Given the description of an element on the screen output the (x, y) to click on. 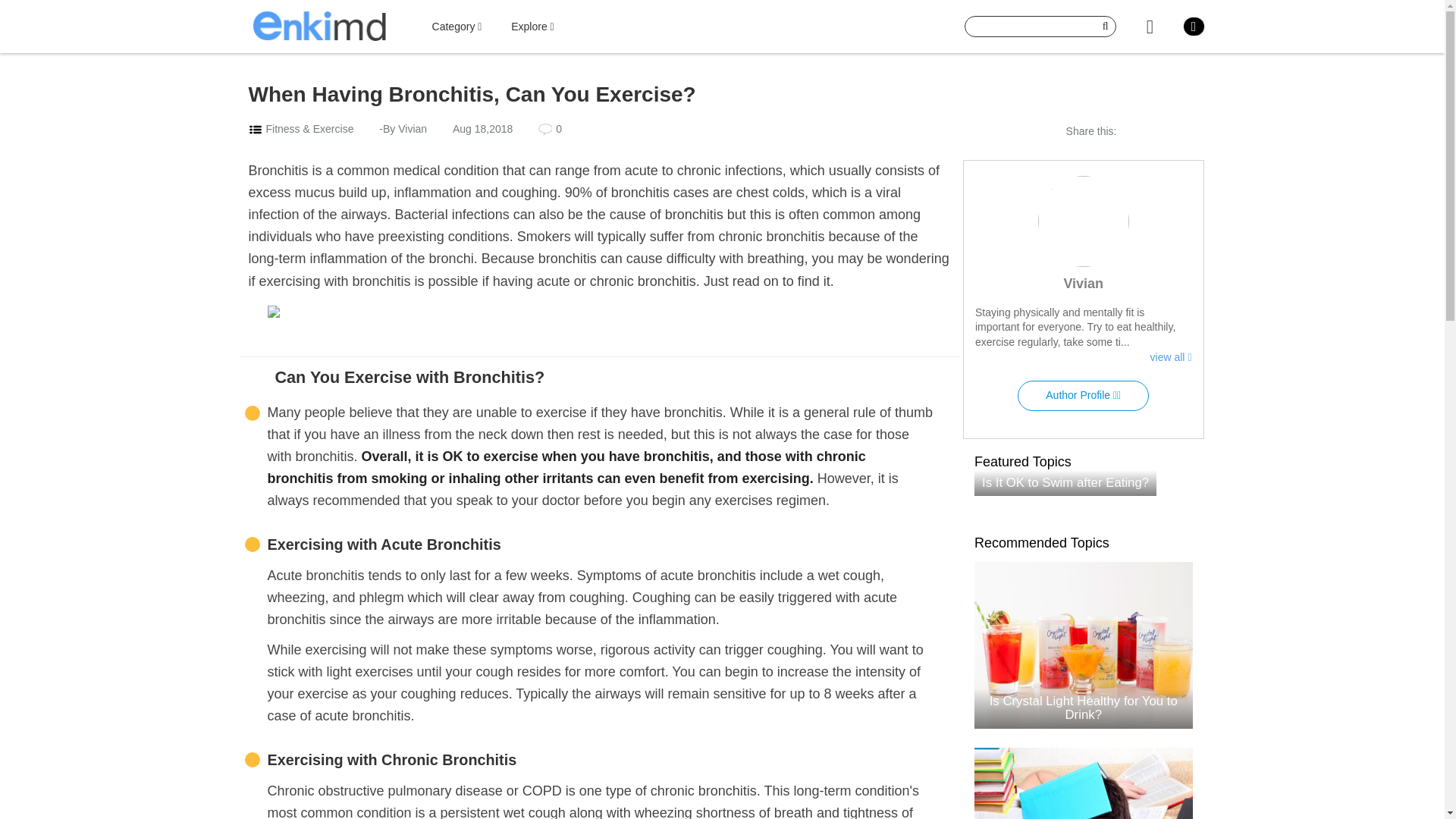
Category (457, 26)
Explore (532, 26)
